Given the description of an element on the screen output the (x, y) to click on. 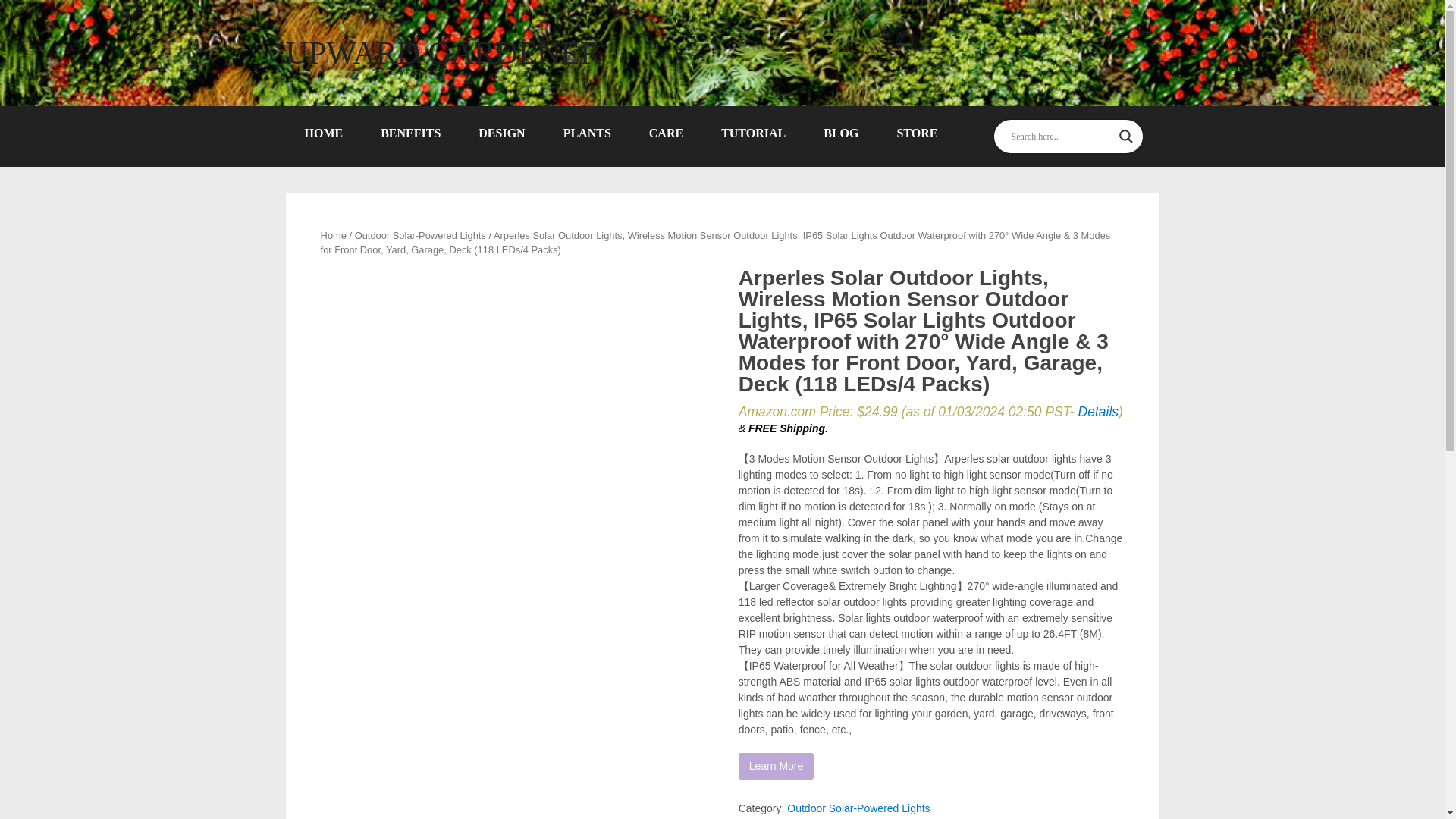
BENEFITS (410, 133)
Outdoor Solar-Powered Lights (420, 235)
STORE (916, 133)
PLANTS (587, 133)
Learn More (775, 765)
CARE (665, 133)
TUTORIAL (753, 133)
BLOG (841, 133)
DESIGN (501, 133)
UPWARD GARDENER (443, 52)
Home (333, 235)
Details (1098, 411)
Outdoor Solar-Powered Lights (858, 808)
HOME (323, 133)
